Given the description of an element on the screen output the (x, y) to click on. 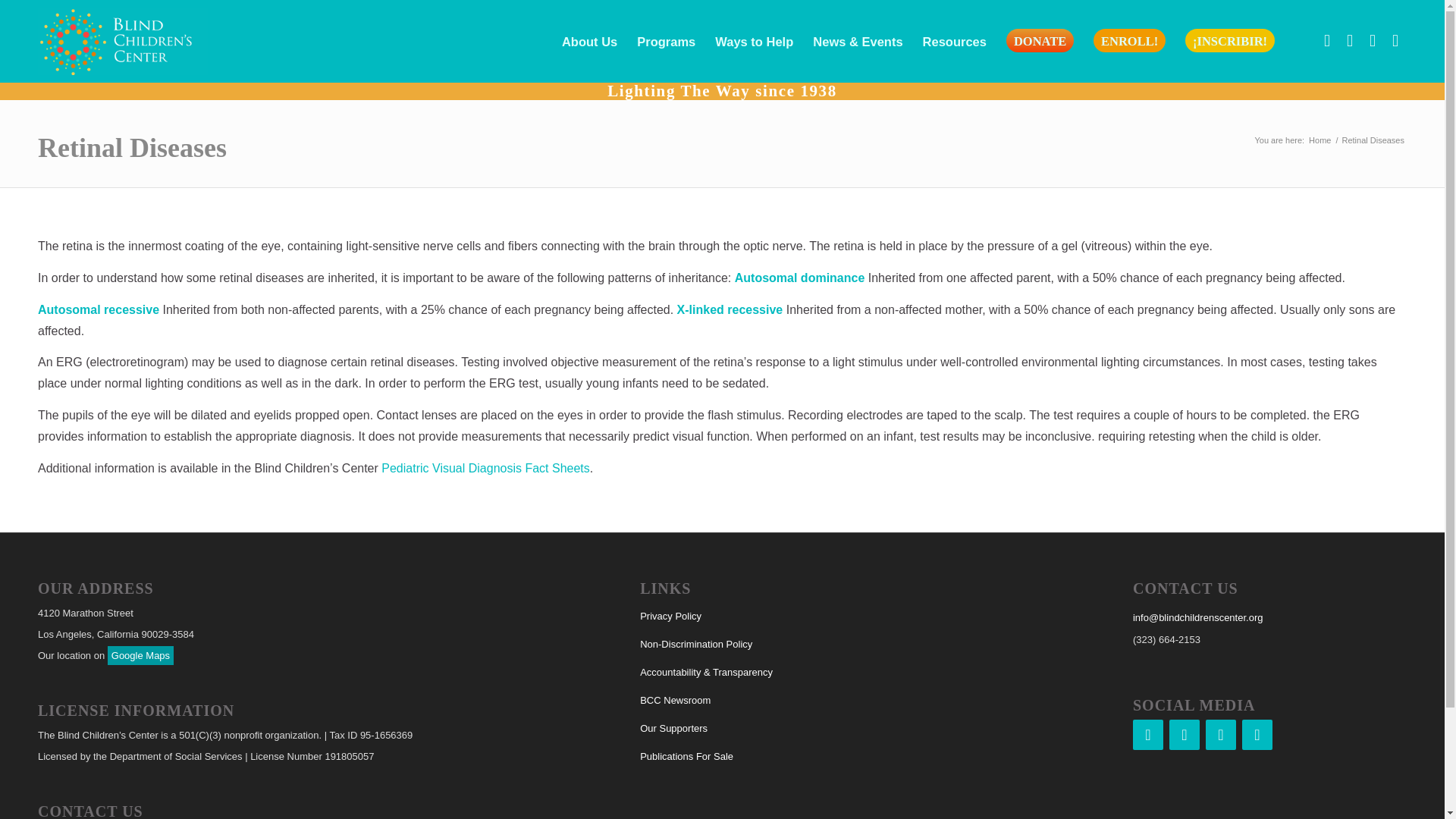
Twitter (1220, 734)
About Us (589, 41)
Instagram (1349, 40)
DONATE (1039, 41)
Facebook (1147, 734)
Youtube (1395, 40)
Ways to Help (753, 41)
Facebook (1327, 40)
Instagram (1184, 734)
Blind Children's Center (1319, 140)
